Given the description of an element on the screen output the (x, y) to click on. 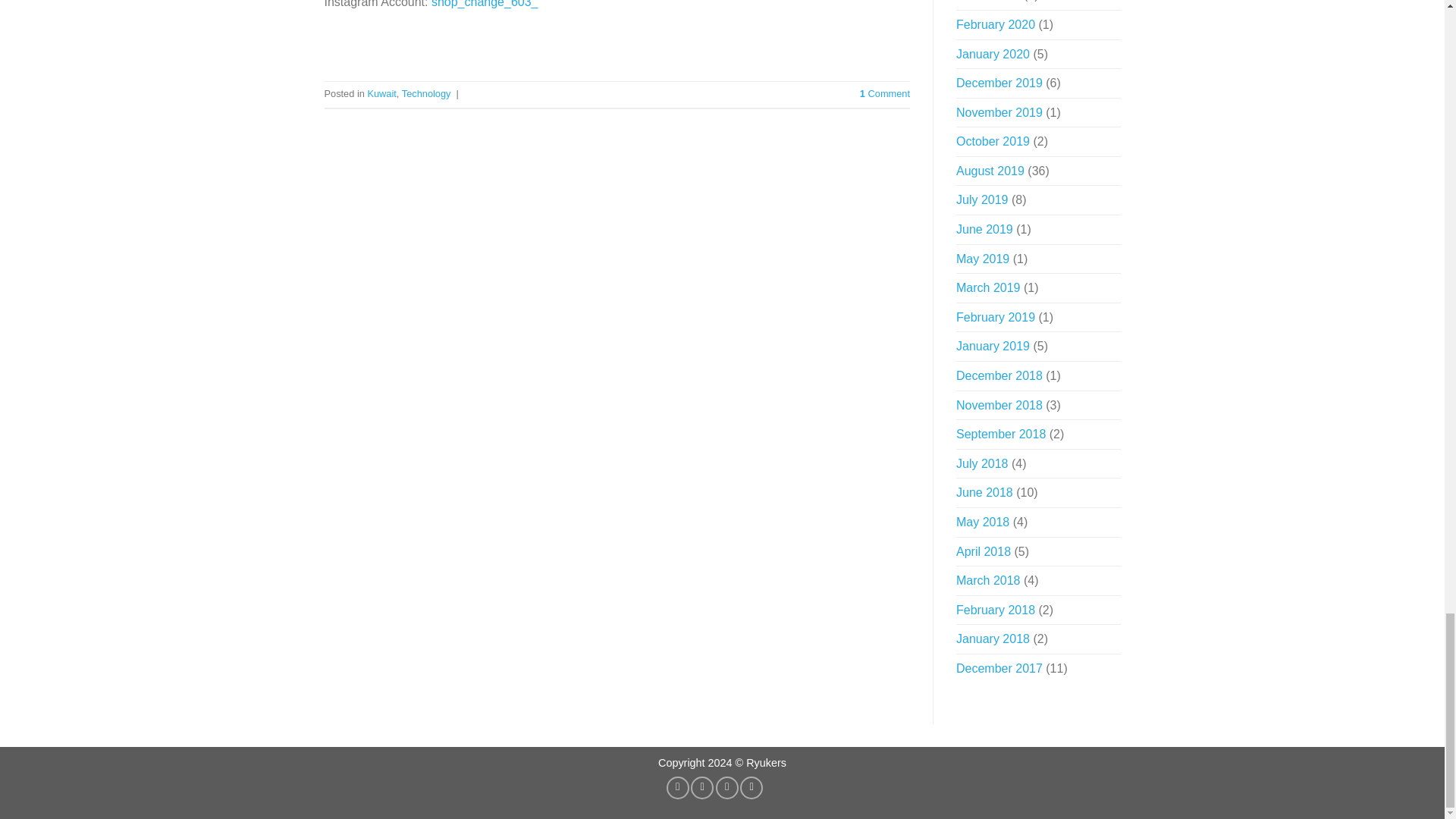
Follow on Instagram (701, 787)
Follow on YouTube (750, 787)
Technology (426, 93)
Follow on Twitter (727, 787)
Kuwait (381, 93)
Follow on Facebook (677, 787)
